Given the description of an element on the screen output the (x, y) to click on. 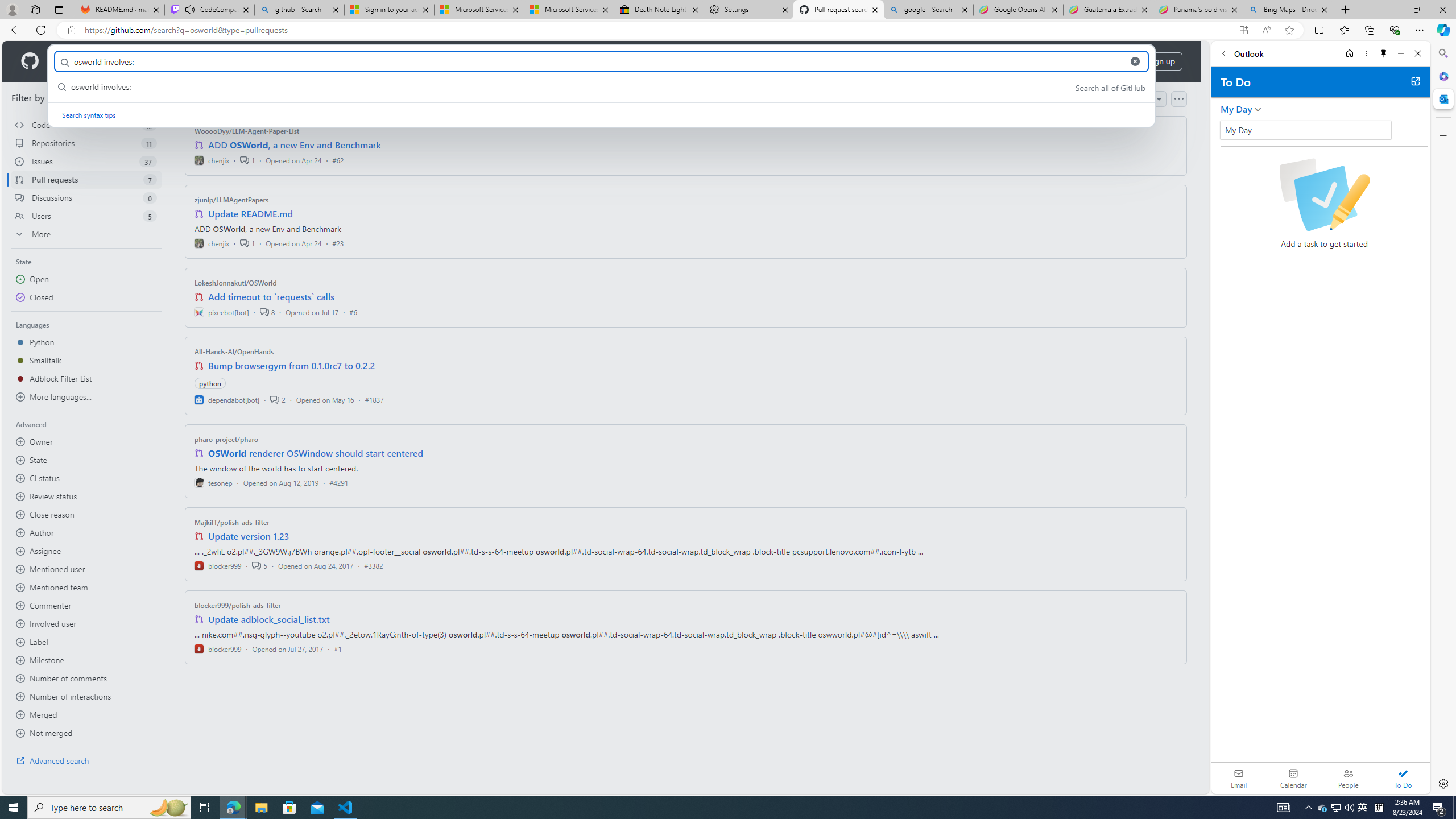
#4291 (338, 482)
More languages... (86, 397)
Update README.md (250, 213)
chenjix (211, 242)
Resources (187, 60)
More (86, 234)
Open Source (254, 60)
Sign in (1115, 61)
tesonep (213, 482)
Resources (187, 60)
